Given the description of an element on the screen output the (x, y) to click on. 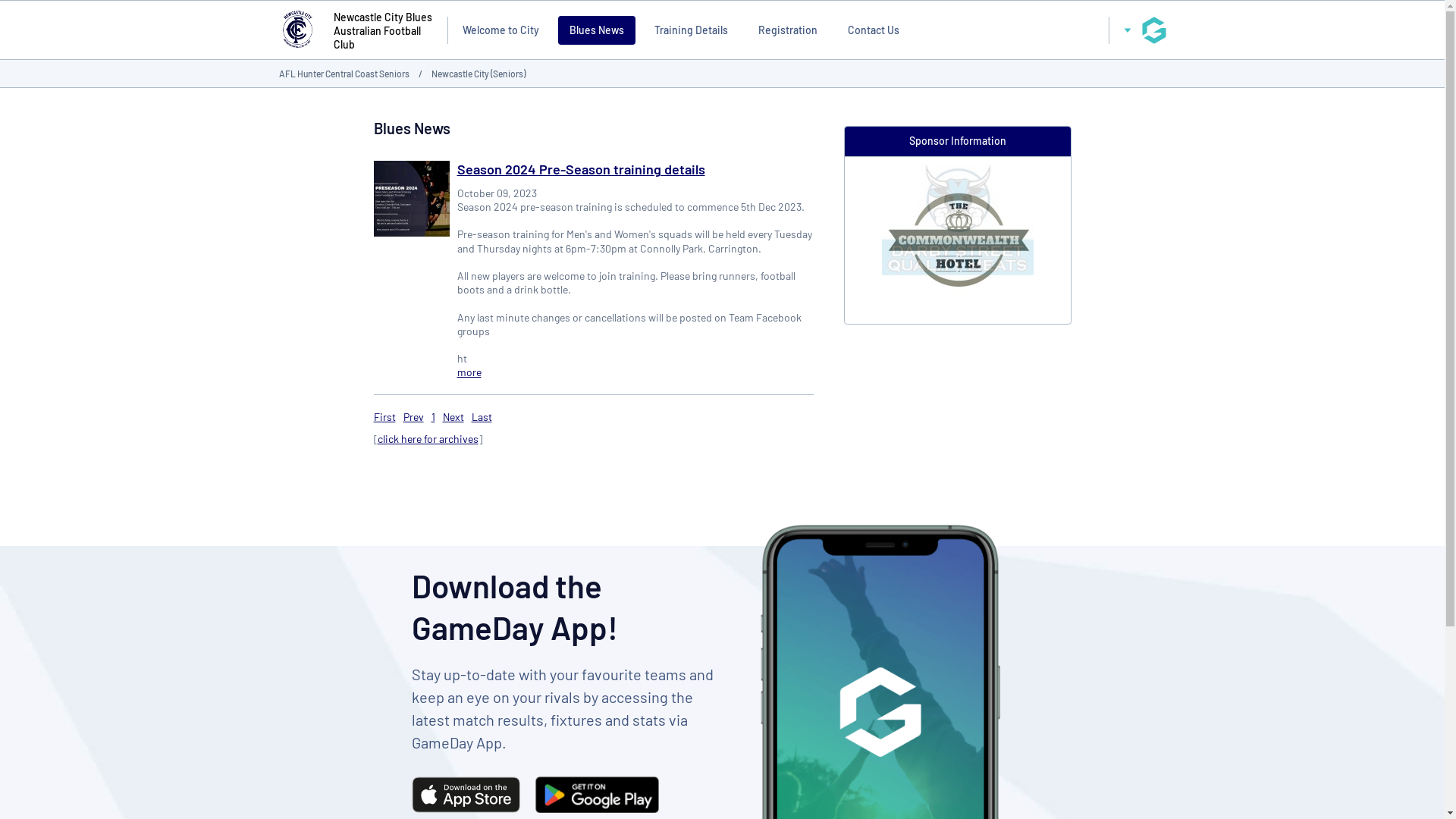
Contact Us Element type: text (873, 29)
click here for archives Element type: text (427, 438)
Season 2024 Pre-Season training details Element type: text (580, 168)
Next Element type: text (453, 416)
more Element type: text (468, 371)
Newcastle City (Seniors) Element type: text (477, 73)
AFL Hunter Central Coast Seniors Element type: text (344, 73)
Prev Element type: text (413, 416)
1 Element type: text (432, 416)
Registration Element type: text (787, 29)
Blues News Element type: text (596, 29)
Training Details Element type: text (691, 29)
First Element type: text (384, 416)
Last Element type: text (481, 416)
Welcome to City Element type: text (500, 29)
